Given the description of an element on the screen output the (x, y) to click on. 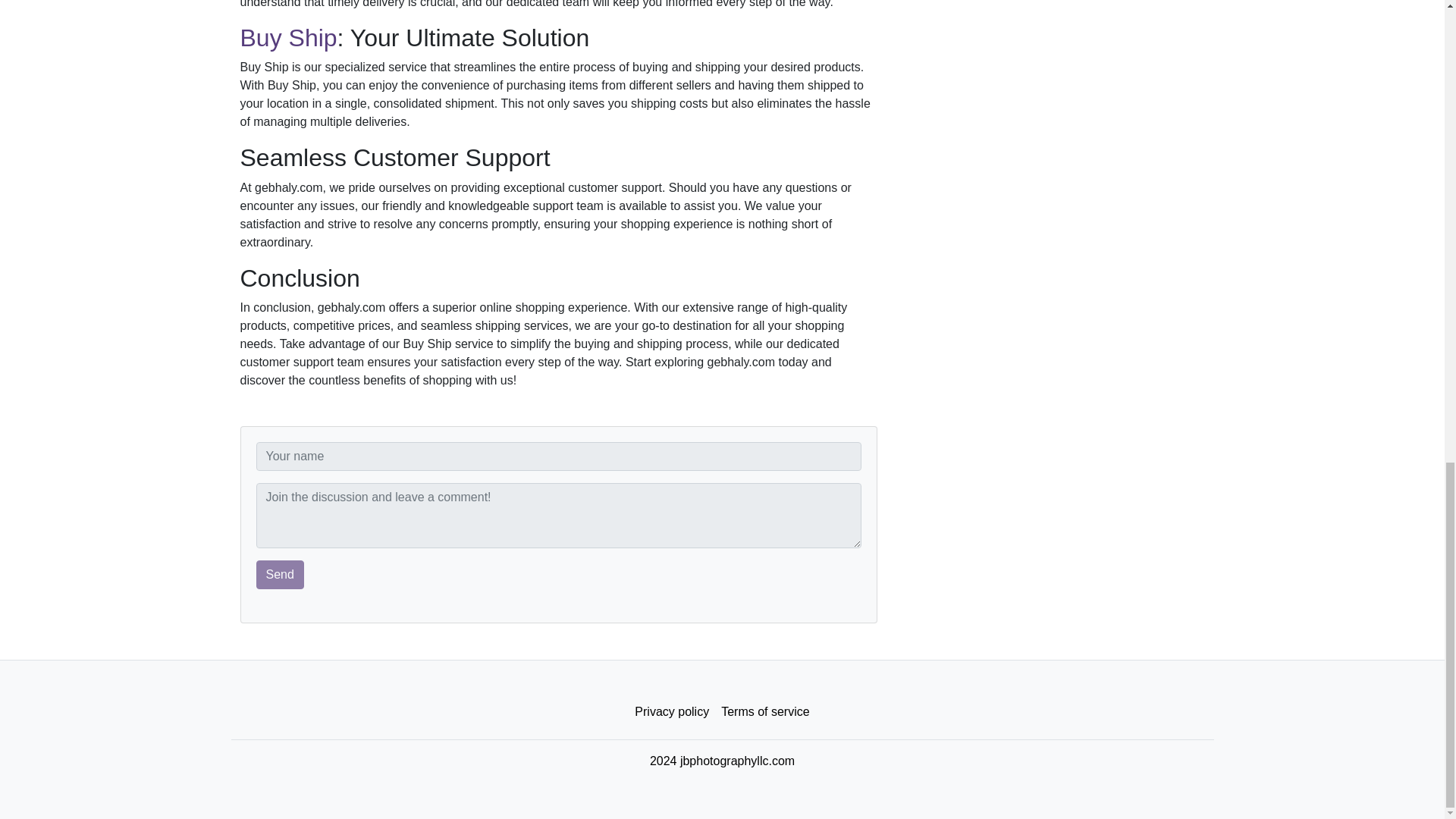
Privacy policy (671, 711)
Buy Ship (288, 37)
Terms of service (764, 711)
Send (280, 574)
Send (280, 574)
